Given the description of an element on the screen output the (x, y) to click on. 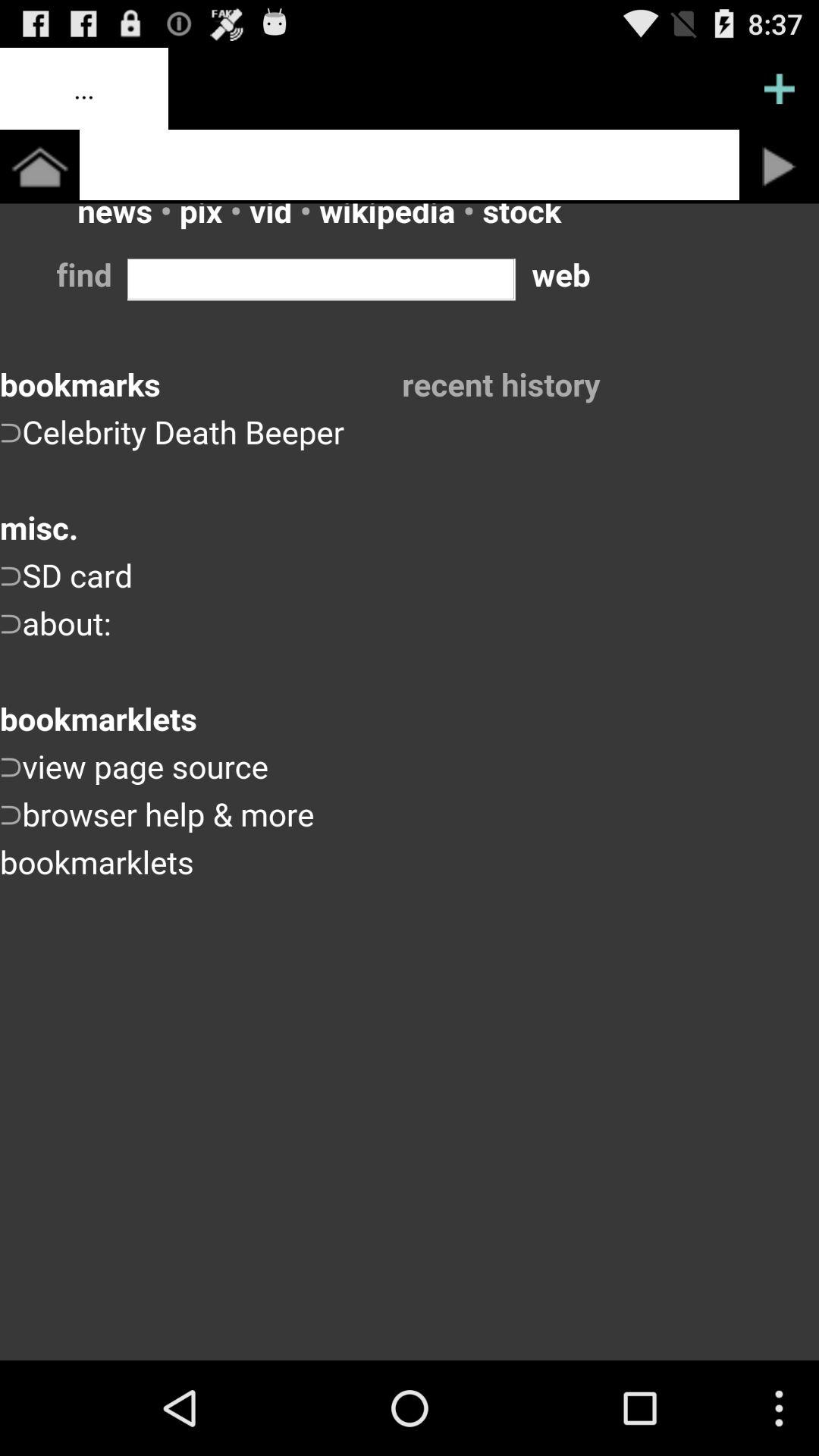
home page (39, 166)
